Given the description of an element on the screen output the (x, y) to click on. 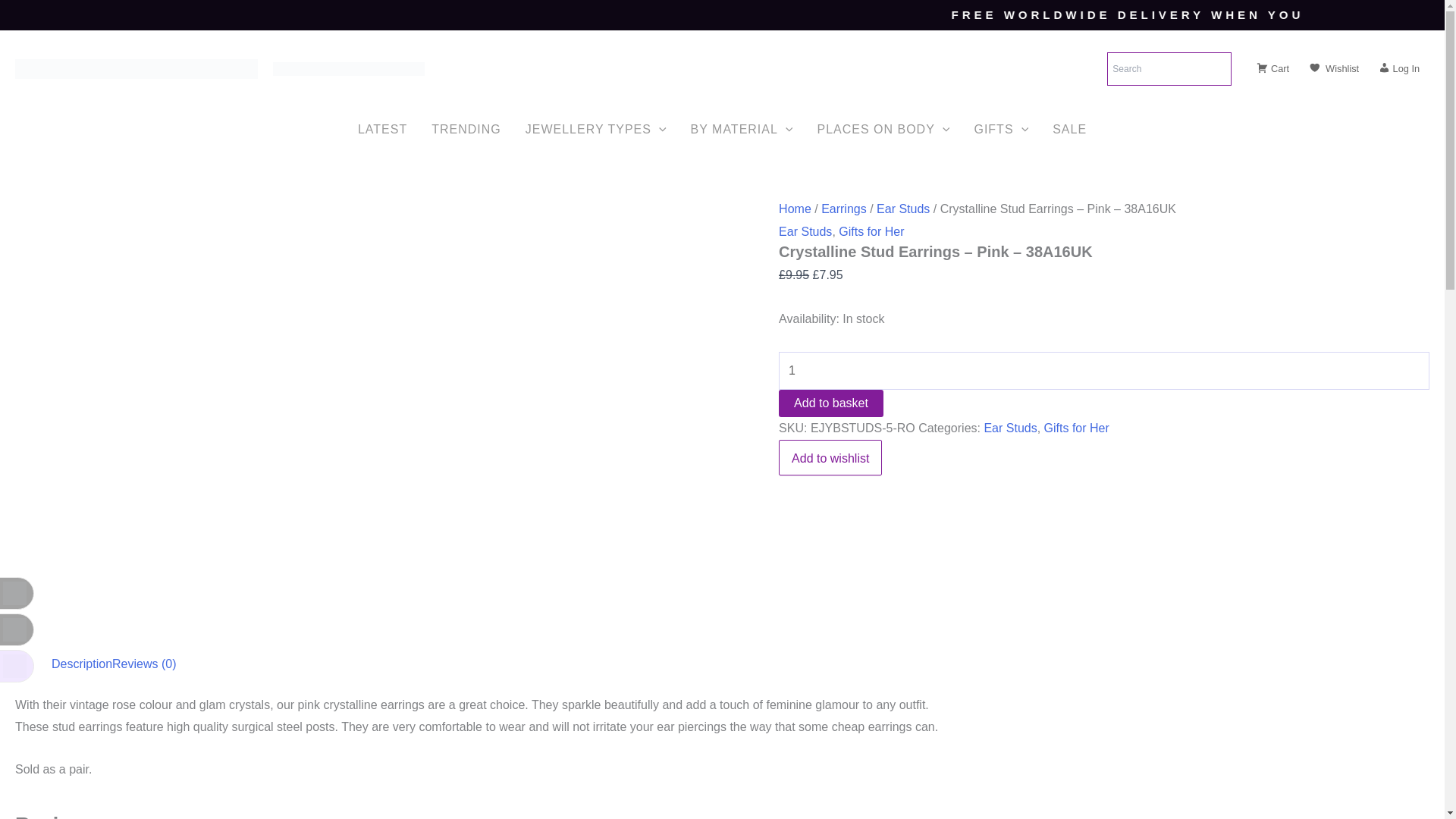
JEWELLERY TYPES (595, 129)
TRENDING (466, 129)
Log In (1398, 68)
LATEST (382, 129)
BY MATERIAL (741, 129)
1 (1103, 370)
Wishlist (1333, 68)
